Given the description of an element on the screen output the (x, y) to click on. 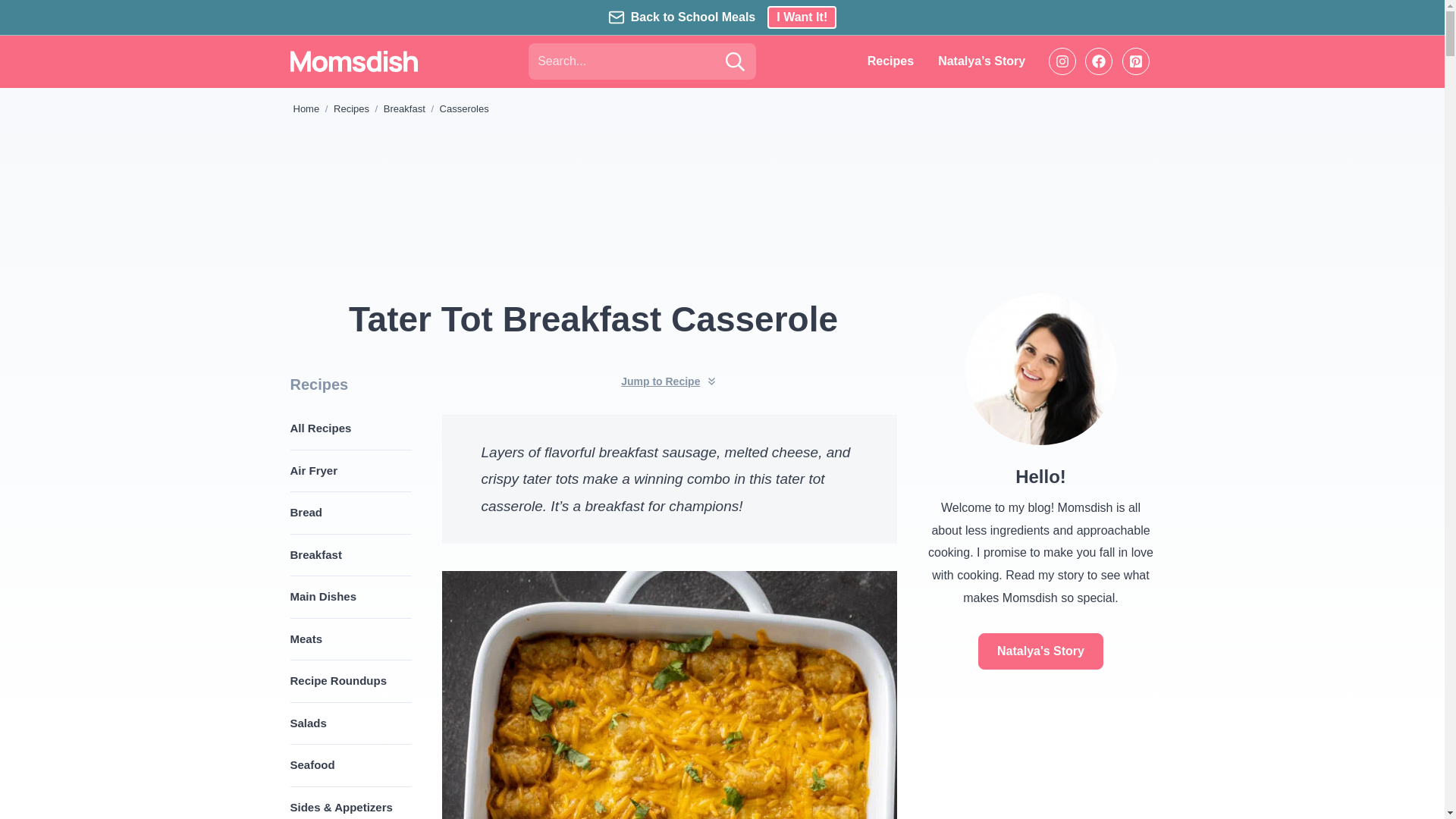
Search (734, 61)
Recipes (890, 60)
Search (734, 61)
I Want It! (801, 16)
Search (734, 61)
Momsdish (352, 61)
Instagram (1061, 60)
Facebook (1098, 60)
Pinterest (1135, 60)
